Given the description of an element on the screen output the (x, y) to click on. 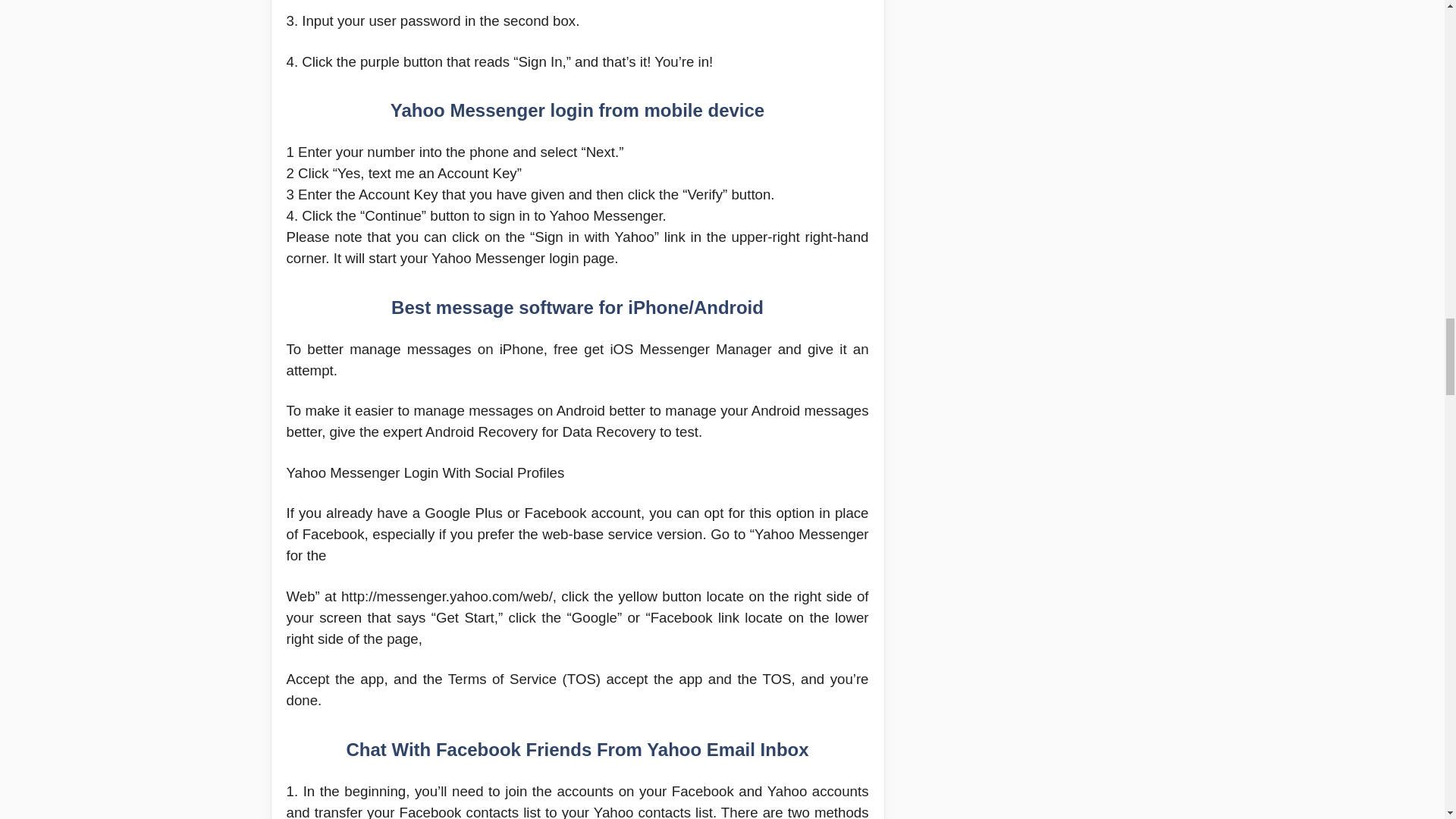
iOS Messenger Manager (690, 349)
Android Recovery for Data Recovery (540, 431)
